Given the description of an element on the screen output the (x, y) to click on. 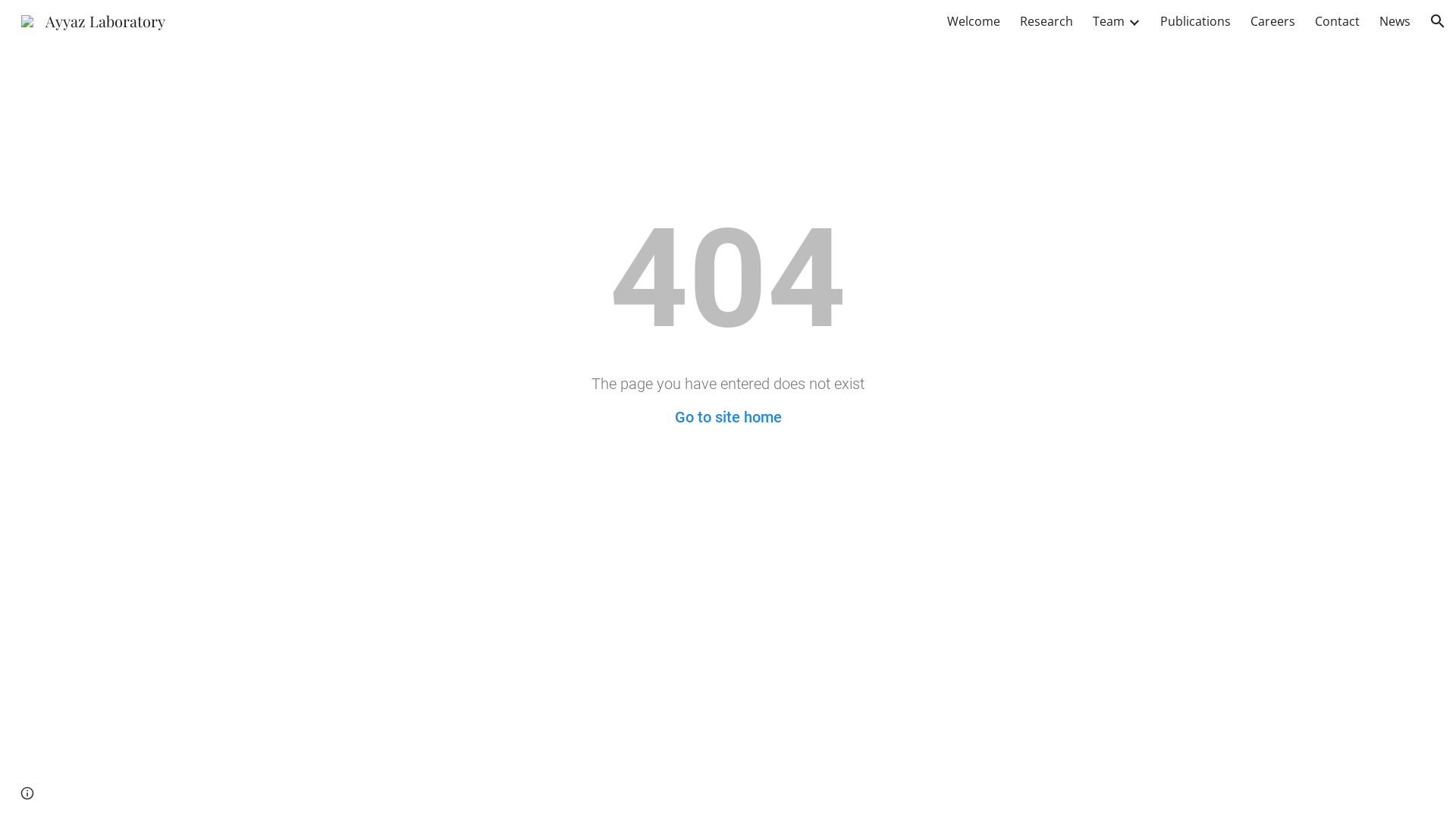
Research Element type: text (1046, 20)
Contact Element type: text (1336, 20)
Careers Element type: text (1272, 20)
Go to site home Element type: text (727, 416)
Team Element type: text (1108, 20)
News Element type: text (1394, 20)
Expand/Collapse Element type: hover (1133, 20)
Welcome Element type: text (973, 20)
Ayyaz Laboratory Element type: text (93, 18)
Publications Element type: text (1195, 20)
